Given the description of an element on the screen output the (x, y) to click on. 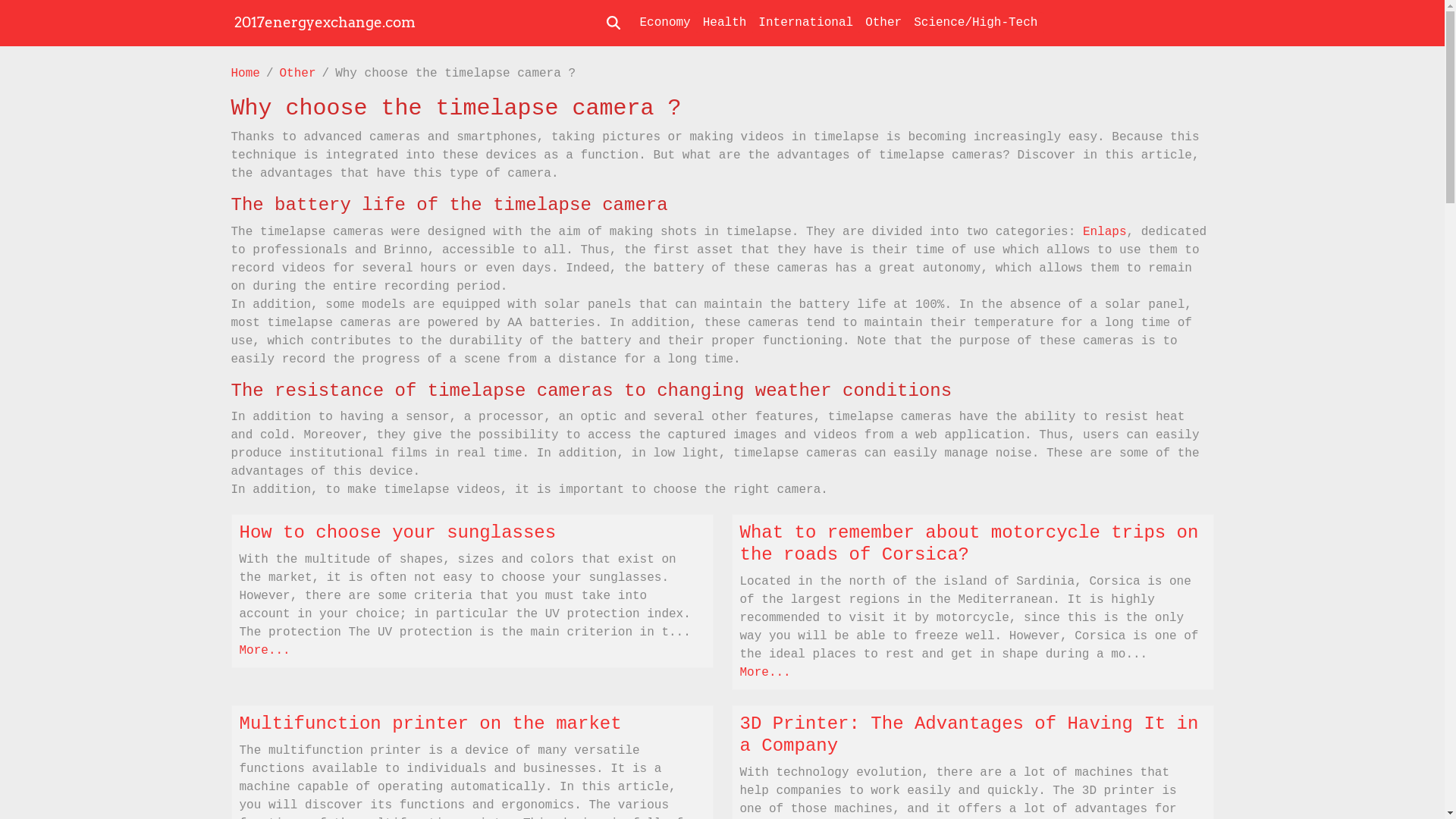
Health Element type: text (724, 22)
3D Printer: The Advantages of Having It in a Company Element type: text (969, 734)
Other Element type: text (883, 22)
More... Element type: text (765, 672)
Other Element type: text (297, 73)
2017energyexchange.com Element type: text (323, 22)
Home Element type: text (244, 73)
More... Element type: text (264, 650)
International Element type: text (805, 22)
Enlaps Element type: text (1104, 231)
Science/High-Tech Element type: text (975, 22)
Multifunction printer on the market Element type: text (430, 723)
Economy Element type: text (664, 22)
How to choose your sunglasses Element type: text (397, 532)
